Given the description of an element on the screen output the (x, y) to click on. 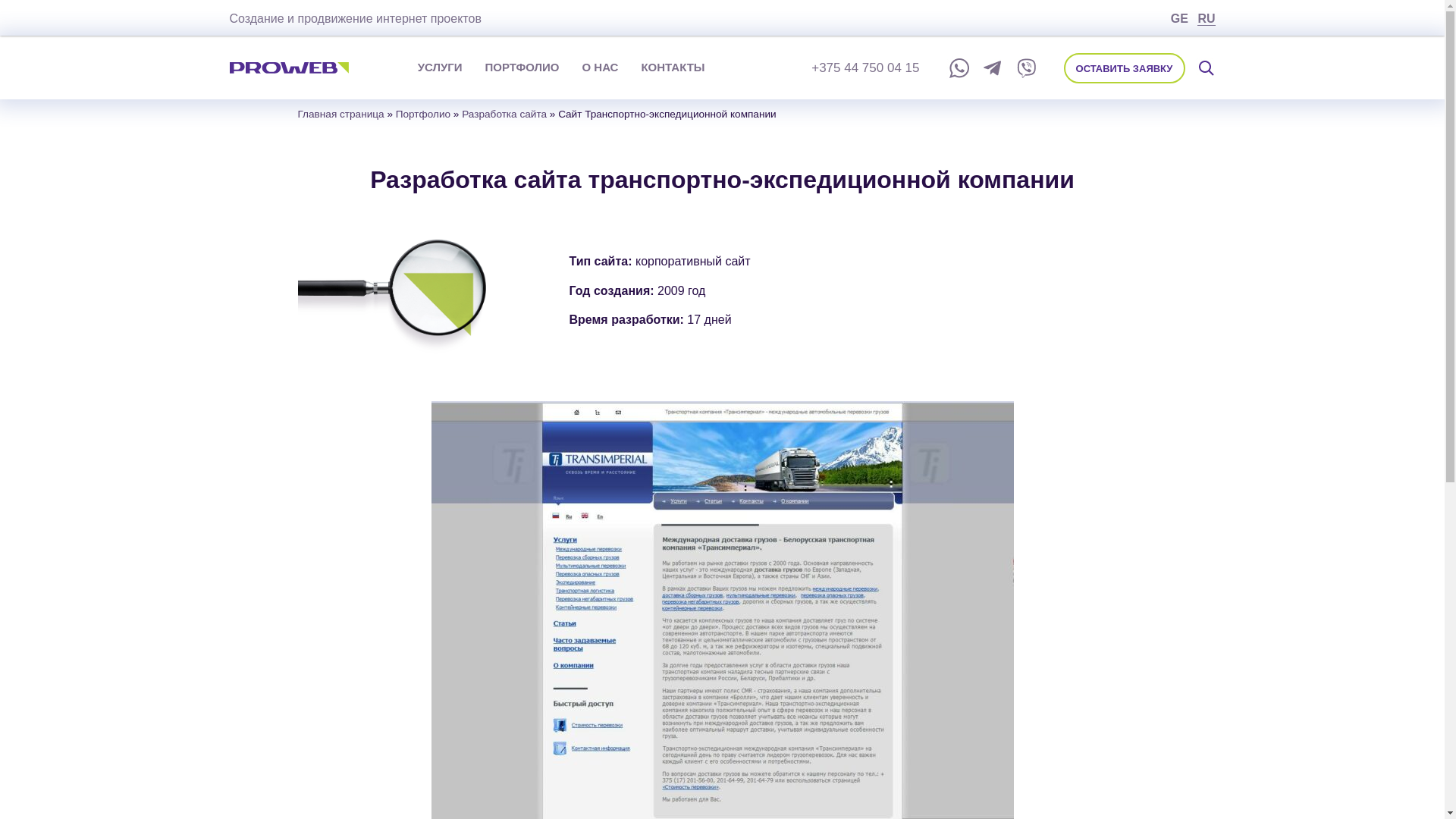
+375 44 750 04 15 Element type: text (865, 66)
GE Element type: text (1179, 18)
RU Element type: text (1205, 18)
